Given the description of an element on the screen output the (x, y) to click on. 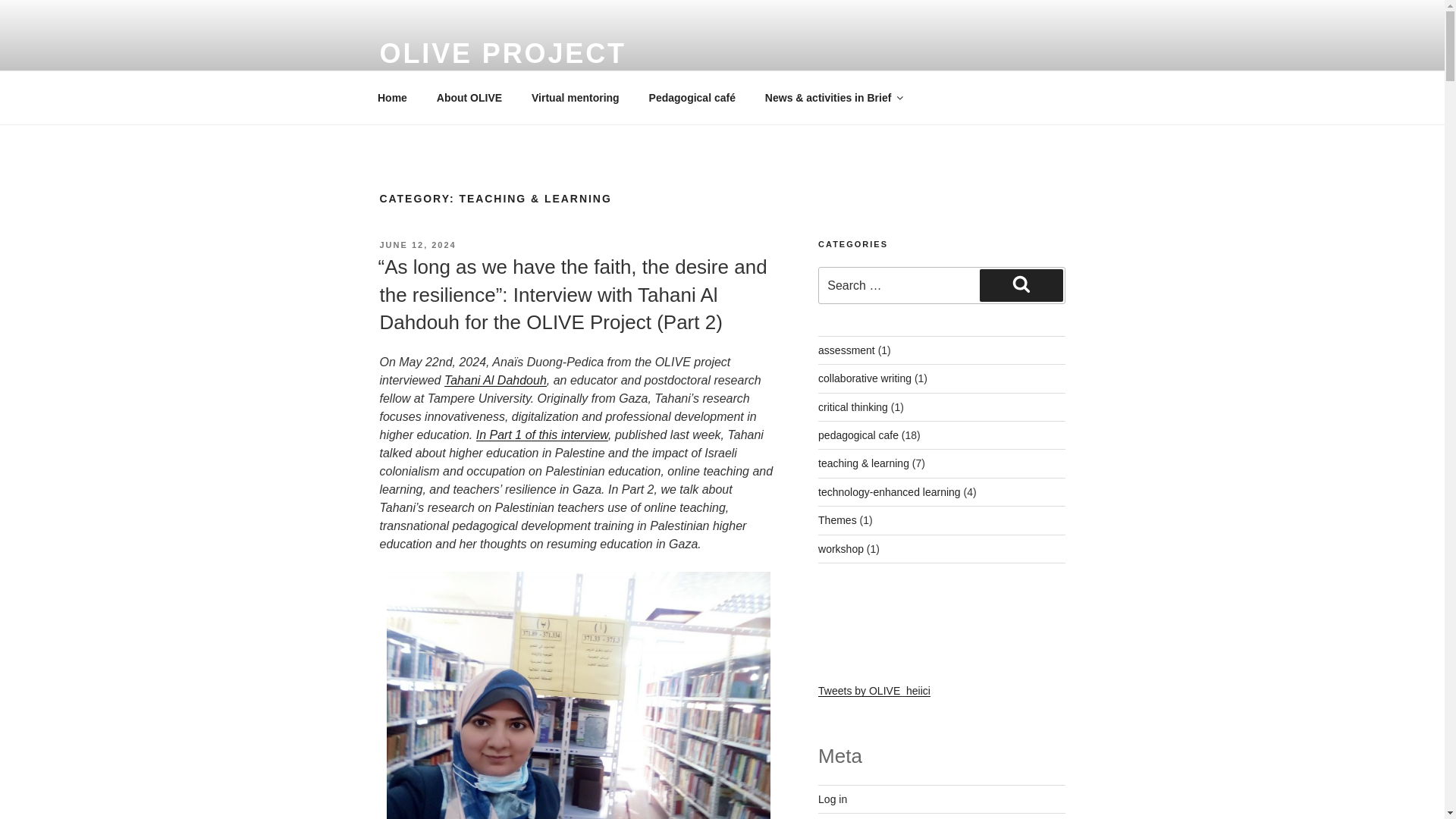
In Part 1 of this interview (542, 434)
OLIVE PROJECT (502, 52)
Virtual mentoring (575, 97)
Home (392, 97)
JUNE 12, 2024 (416, 244)
About OLIVE (469, 97)
Tahani Al Dahdouh (495, 379)
